Given the description of an element on the screen output the (x, y) to click on. 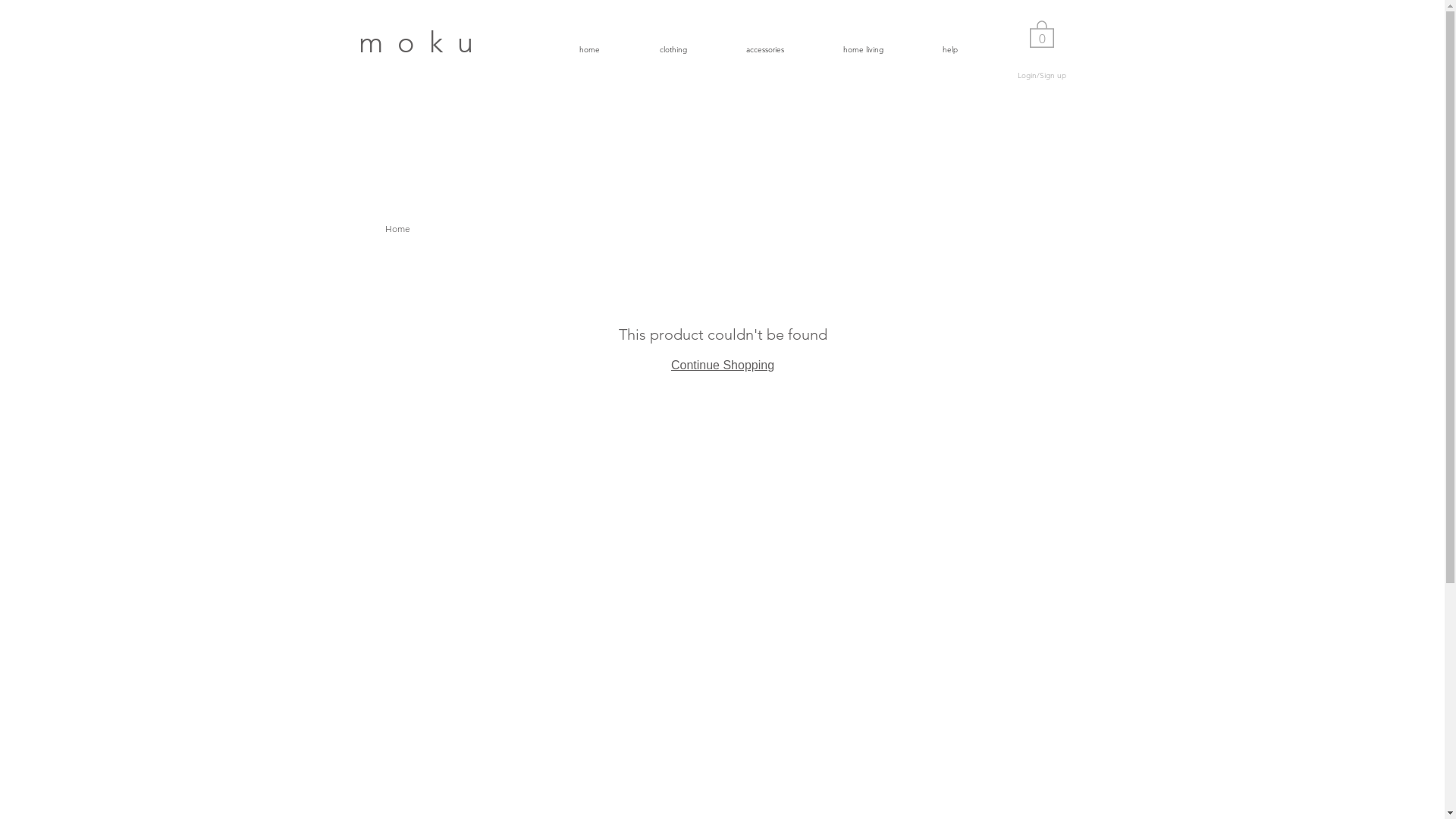
Login/Sign up Element type: text (1041, 75)
help Element type: text (931, 49)
moku Element type: text (422, 42)
home living Element type: text (844, 49)
clothing Element type: text (654, 49)
Home Element type: text (397, 228)
0 Element type: text (1041, 32)
home Element type: text (570, 49)
Continue Shopping Element type: text (722, 364)
accessories Element type: text (745, 49)
